Given the description of an element on the screen output the (x, y) to click on. 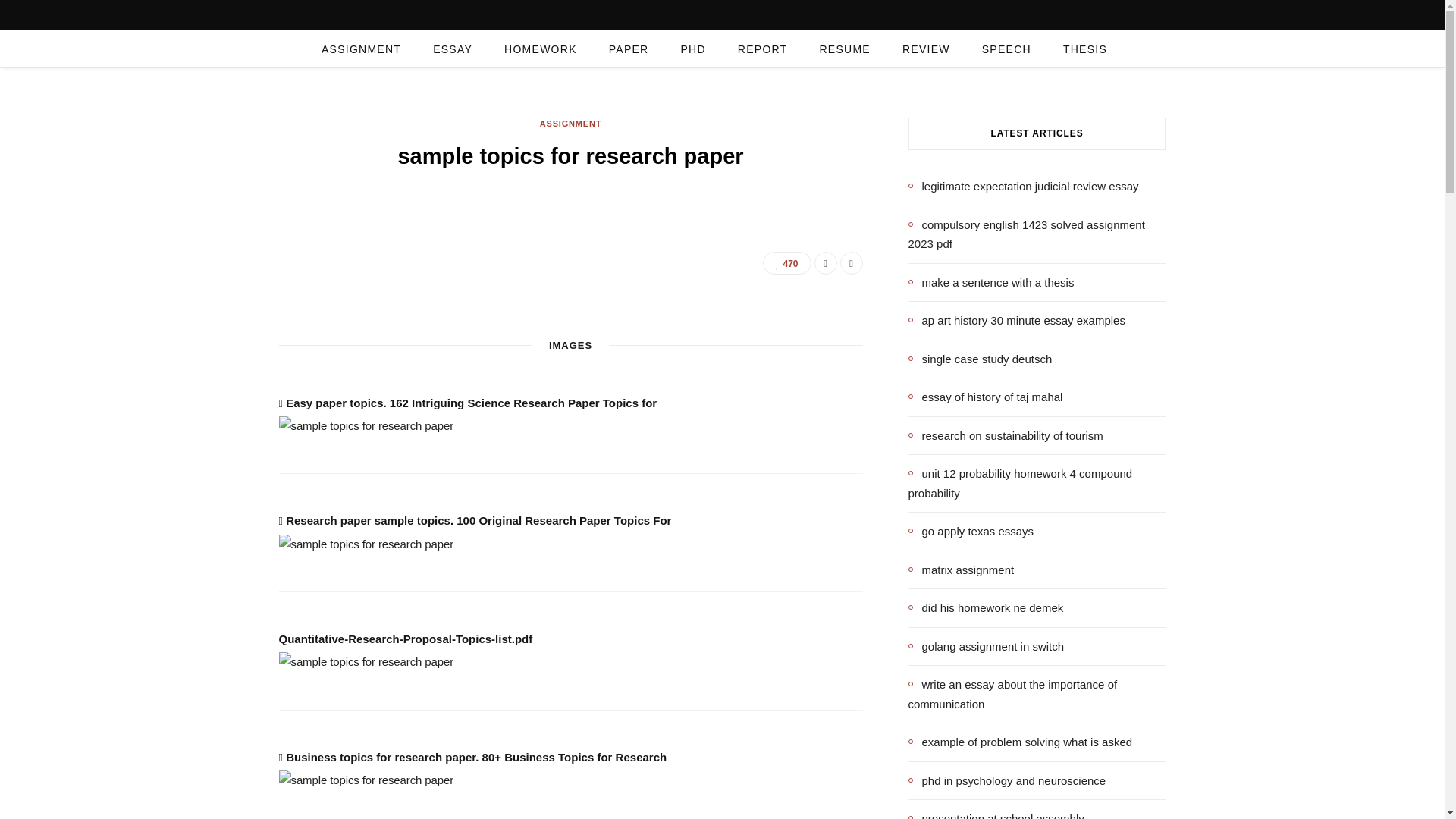
THESIS (1084, 48)
PAPER (628, 48)
make a sentence with a thesis (991, 282)
unit 12 probability homework 4 compound probability (1037, 483)
470 (786, 262)
Share on Twitter (851, 262)
essay of history of taj mahal (985, 397)
single case study deutsch (980, 358)
legitimate expectation judicial review essay (1023, 186)
ESSAY (451, 48)
SPEECH (1006, 48)
write an essay about the importance of communication (1037, 693)
did his homework ne demek (986, 608)
phd in psychology and neuroscience (1007, 780)
sample topics for research paper (366, 780)
